Given the description of an element on the screen output the (x, y) to click on. 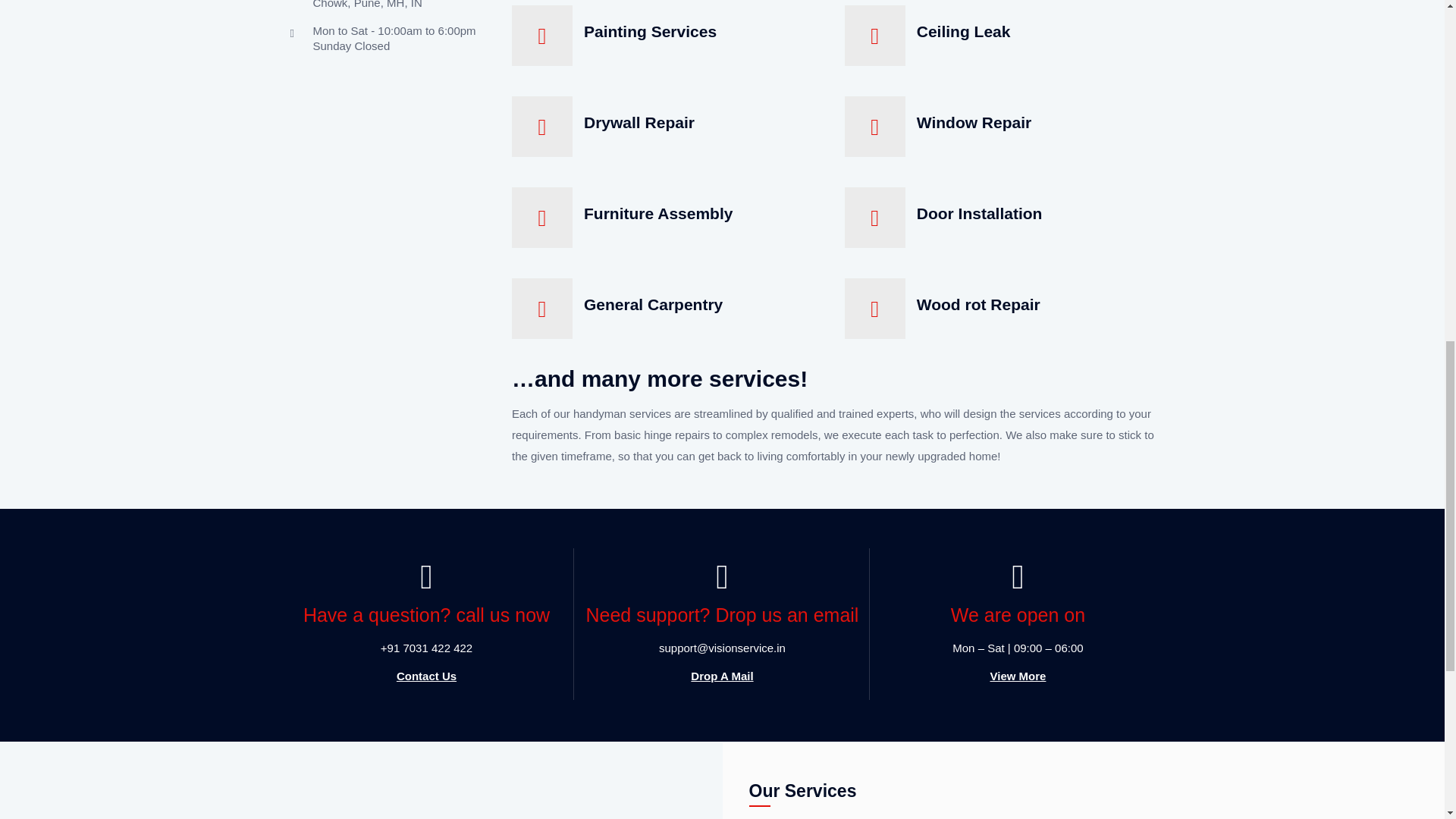
View More (1018, 675)
Contact Us (426, 675)
Drop A Mail (721, 675)
